Given the description of an element on the screen output the (x, y) to click on. 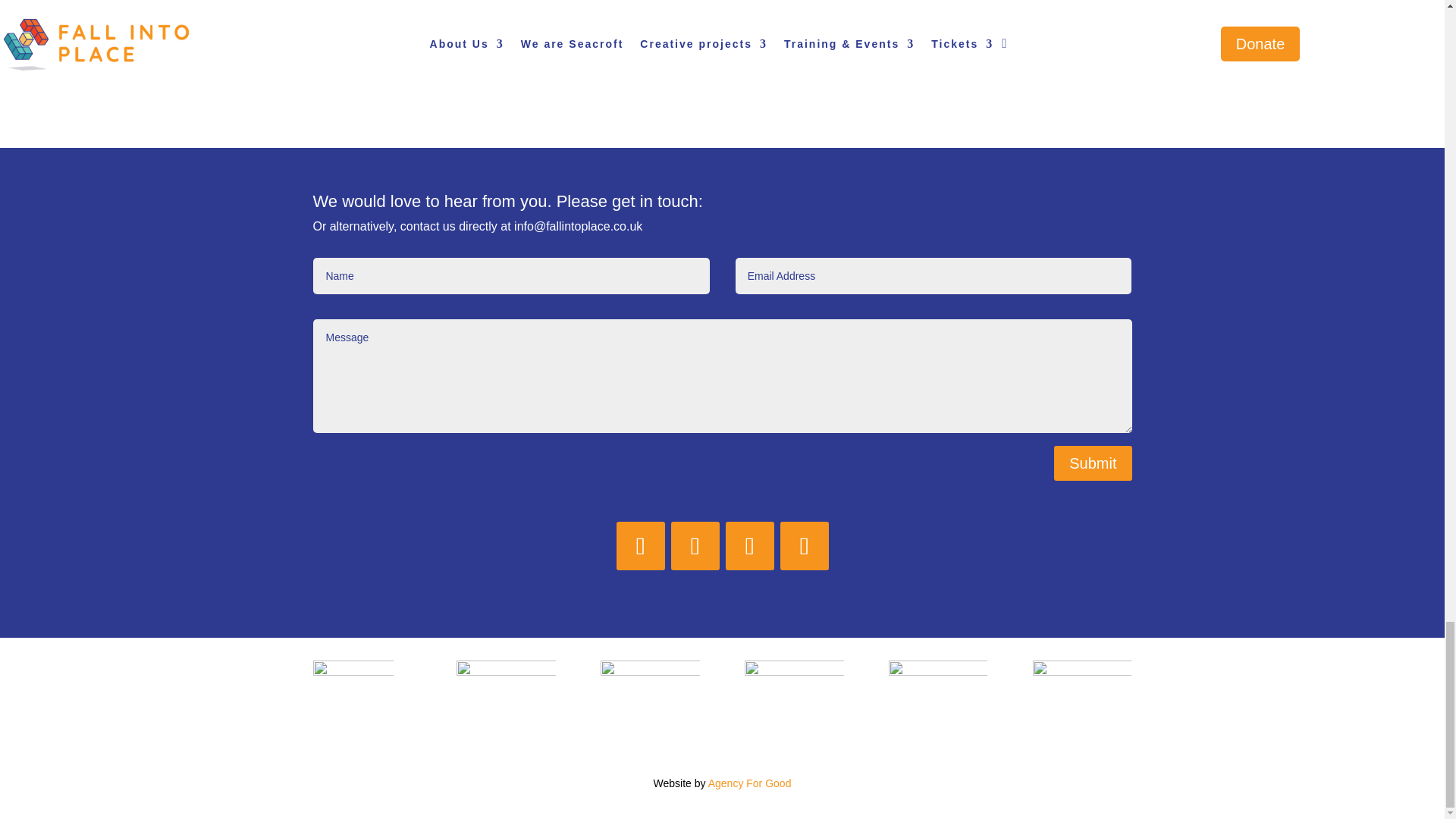
Pledge-maker badge email (353, 696)
4 (648, 685)
5 (505, 685)
Follow on LinkedIn (803, 545)
Follow on Twitter (694, 545)
Follow on Instagram (749, 545)
Follow on Facebook (639, 545)
